Given the description of an element on the screen output the (x, y) to click on. 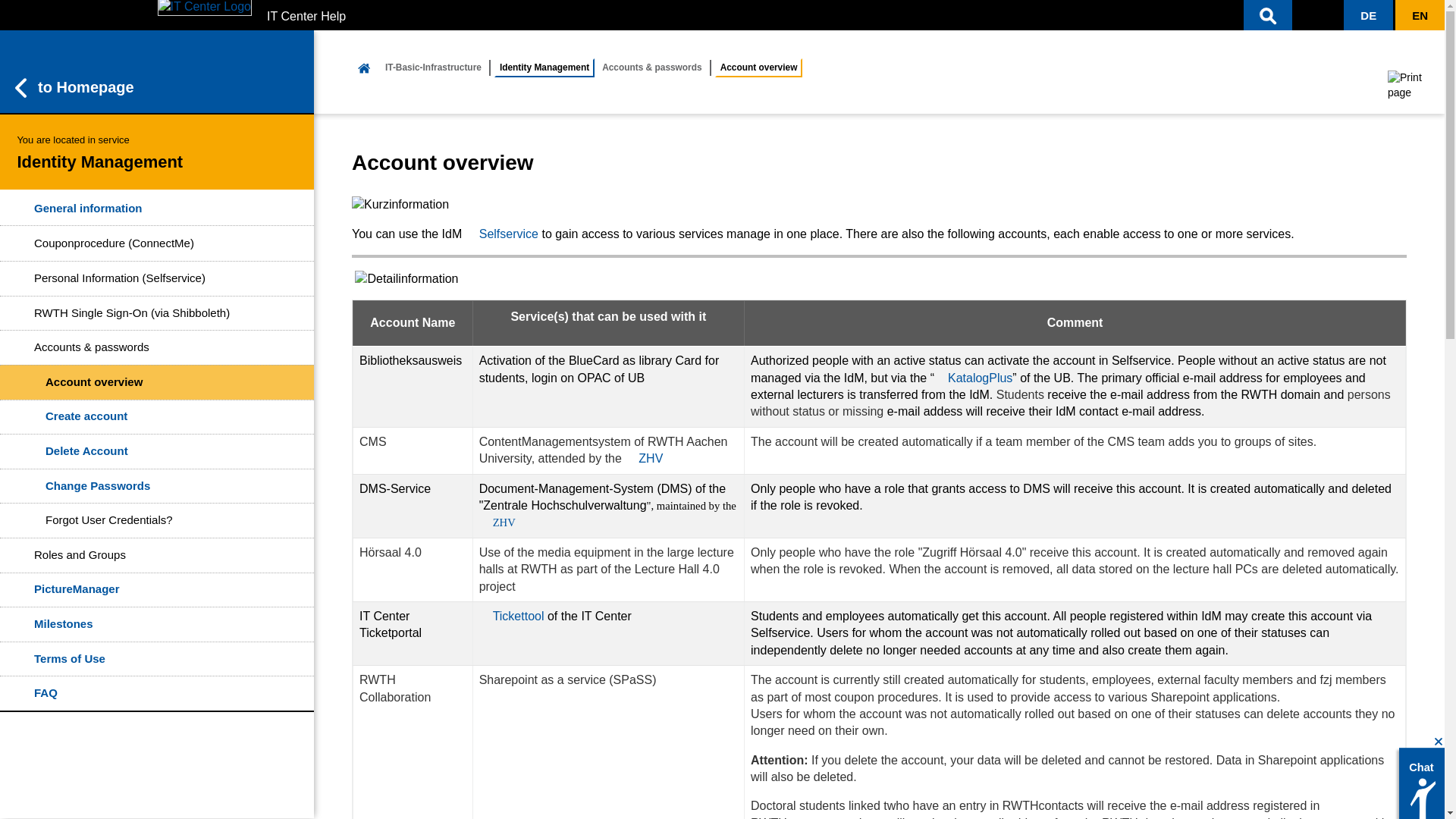
Kurzinformation (400, 204)
General information (157, 208)
to Homepage (157, 71)
DE (1368, 15)
Detailinformation (406, 279)
